Given the description of an element on the screen output the (x, y) to click on. 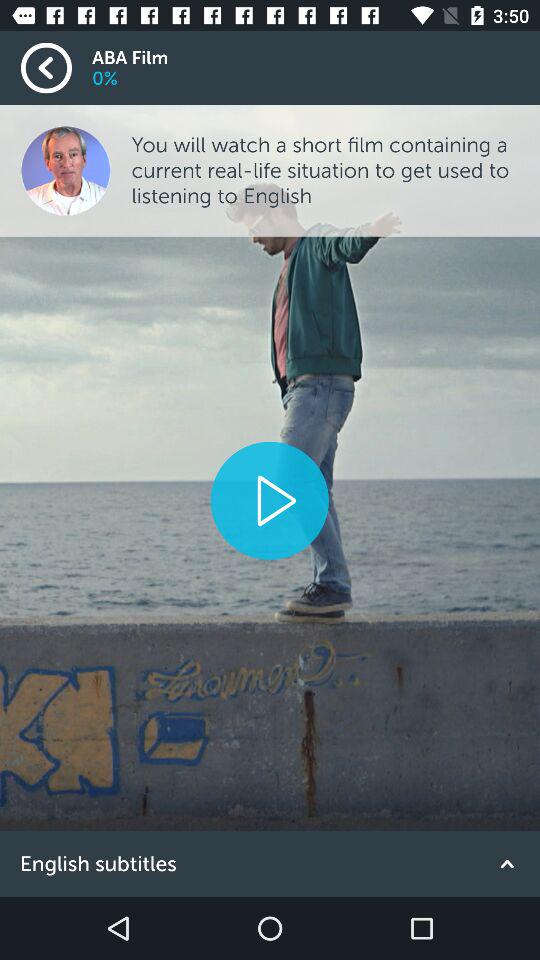
previous page (56, 67)
